Given the description of an element on the screen output the (x, y) to click on. 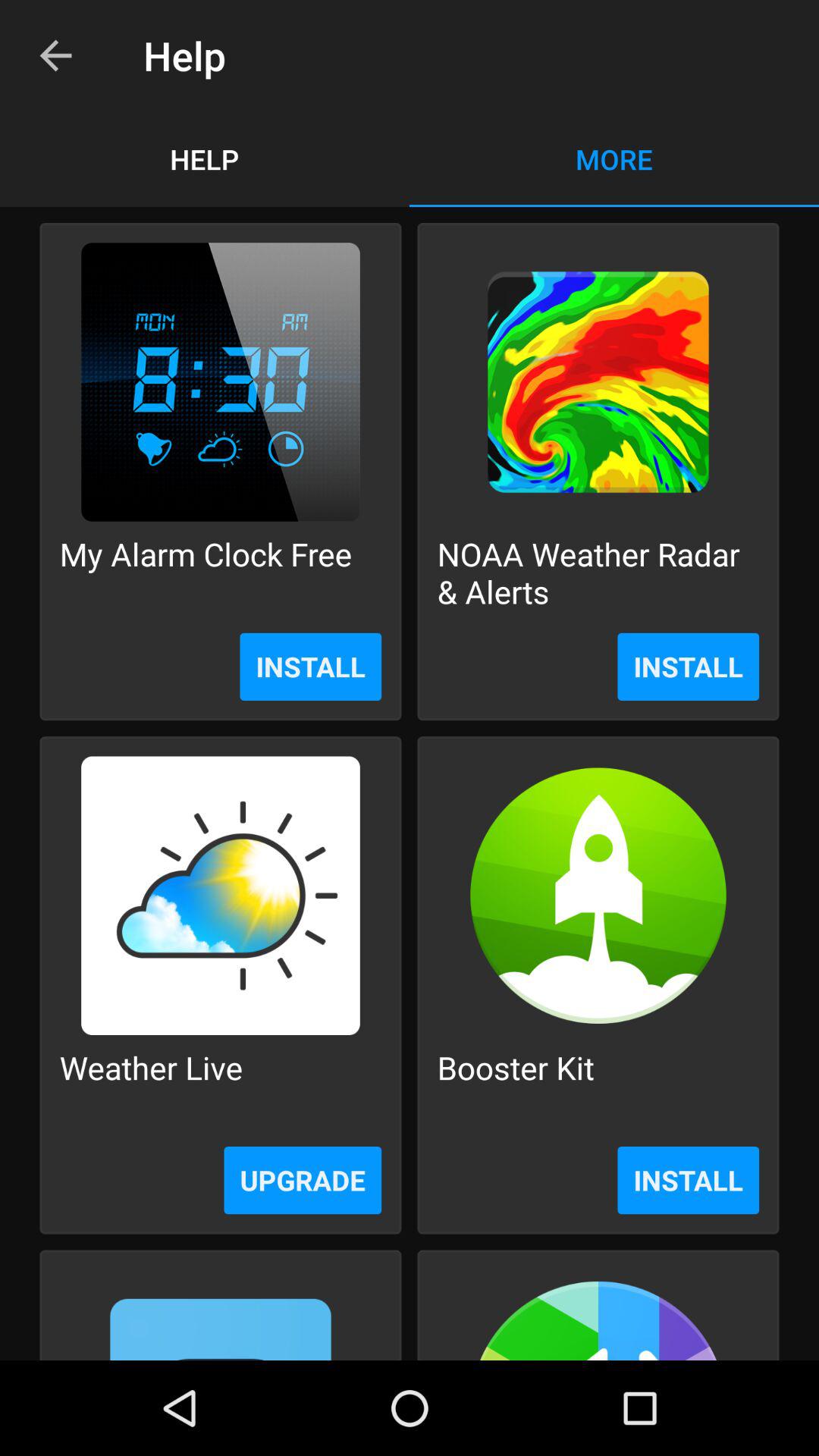
tap item above upgrade item (150, 1085)
